Given the description of an element on the screen output the (x, y) to click on. 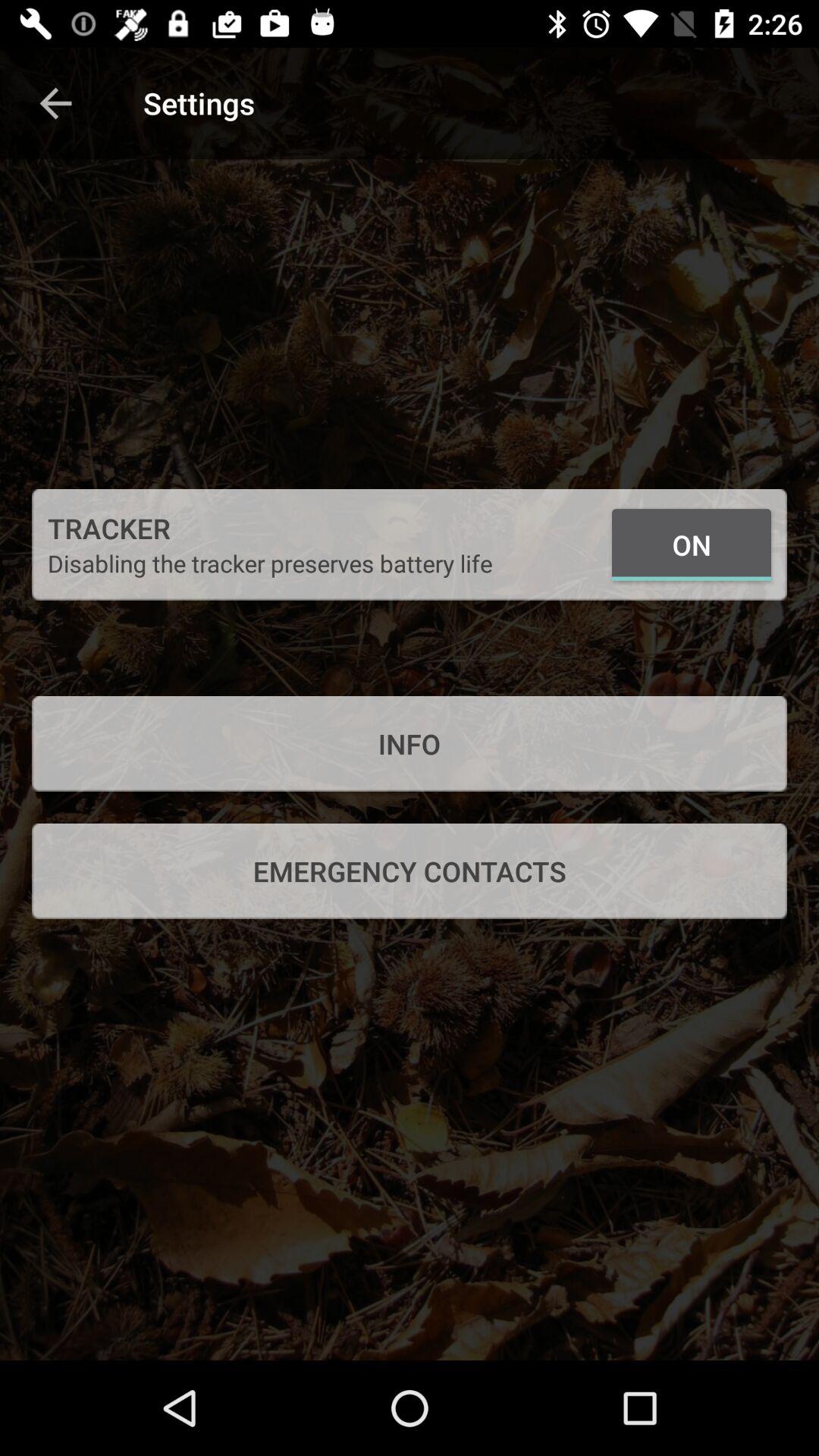
choose the icon to the right of the disabling the tracker (691, 544)
